Given the description of an element on the screen output the (x, y) to click on. 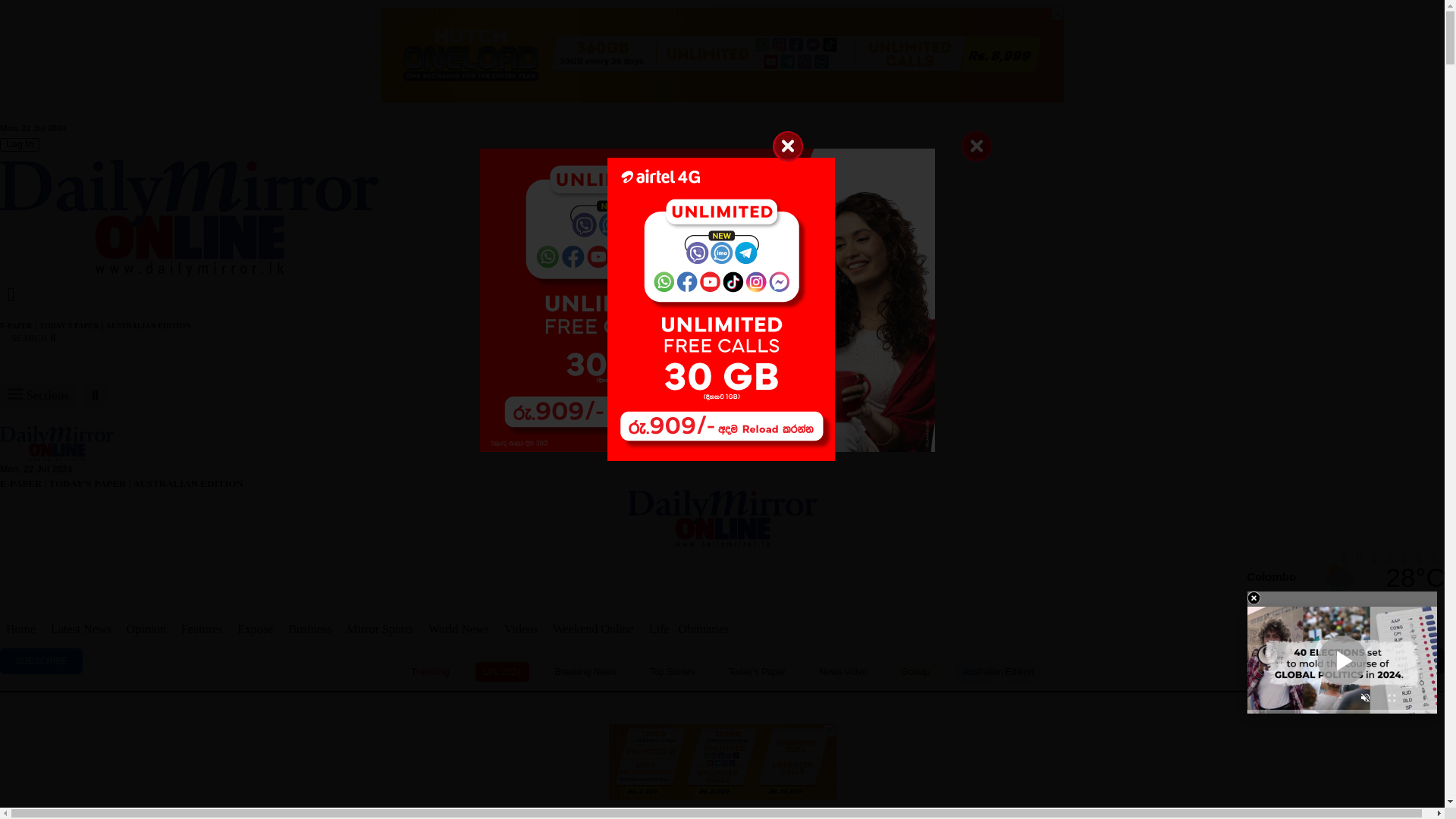
3rd party ad content (721, 810)
Play (1342, 659)
Unmute (1364, 700)
3rd party ad content (721, 747)
3rd party ad content (721, 54)
